Given the description of an element on the screen output the (x, y) to click on. 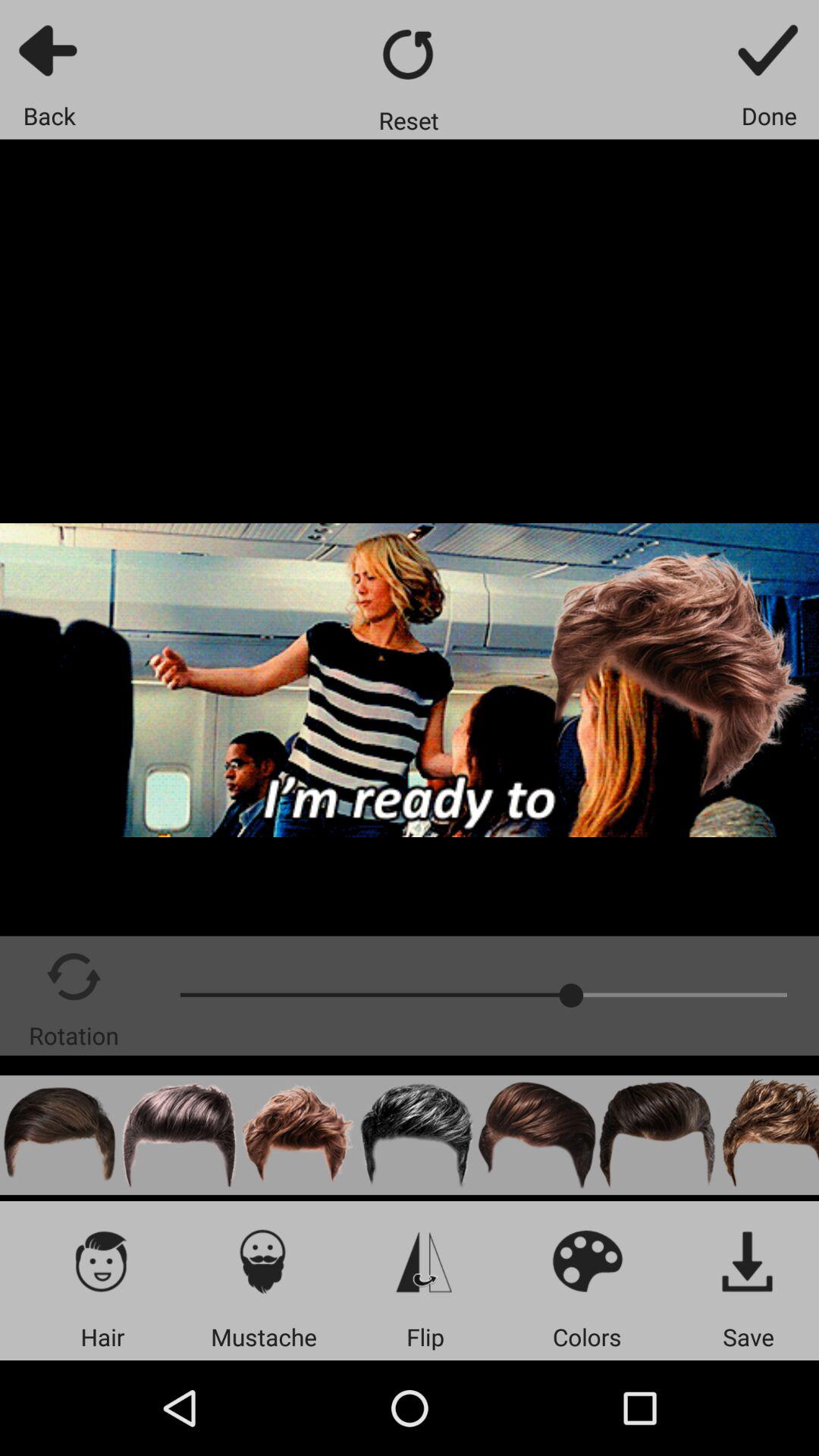
add a hairstyle overlay (59, 1134)
